Given the description of an element on the screen output the (x, y) to click on. 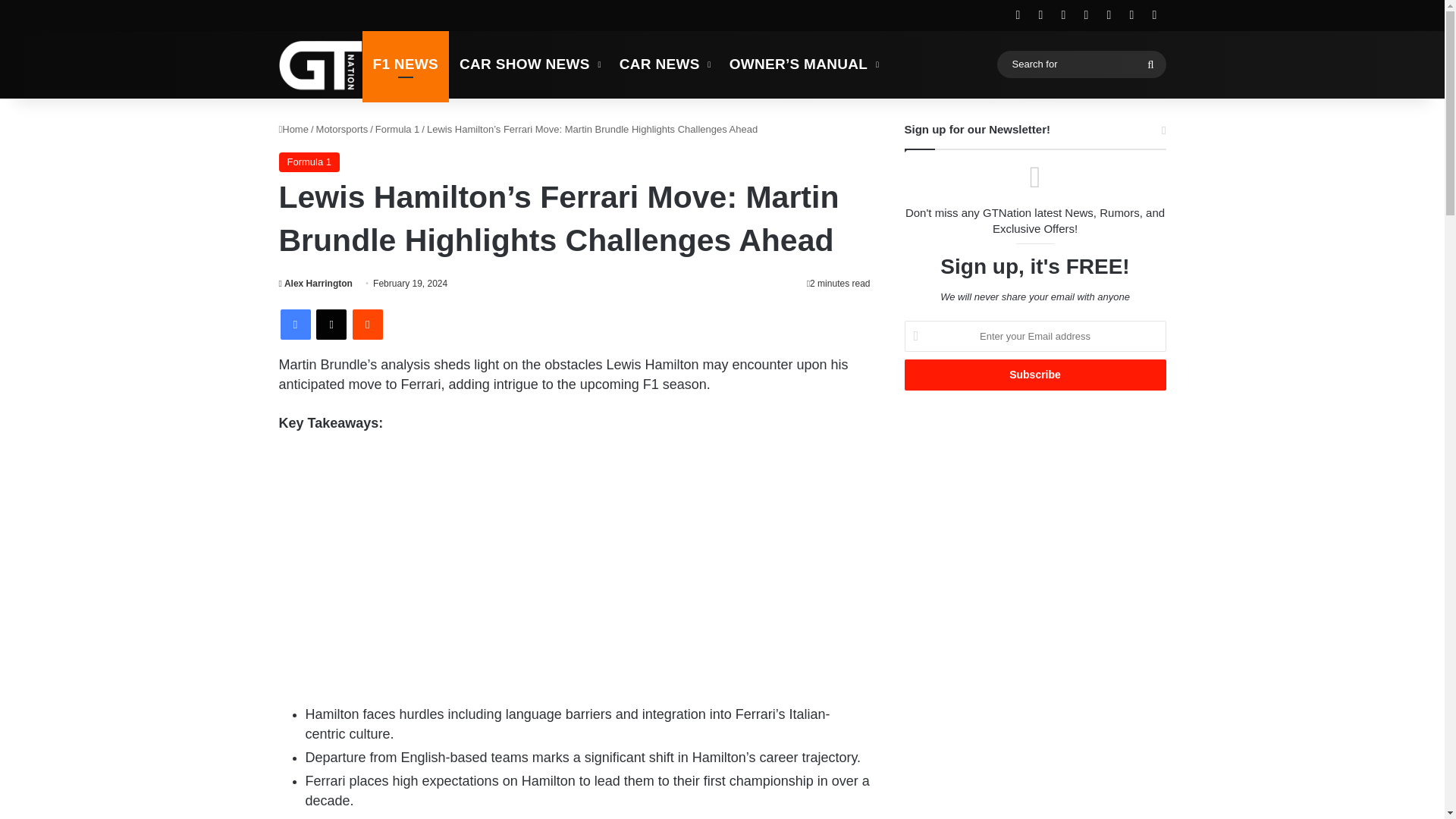
Reddit (367, 324)
TikTok (1154, 15)
Facebook (1040, 15)
Alex Harrington (315, 283)
Home (293, 129)
Formula 1 (397, 129)
RSS (1018, 15)
Search for (1150, 63)
Alex Harrington (315, 283)
F1 NEWS (405, 64)
Instagram (1131, 15)
Search for (1080, 63)
X (330, 324)
Formula 1 (309, 161)
Facebook (296, 324)
